Given the description of an element on the screen output the (x, y) to click on. 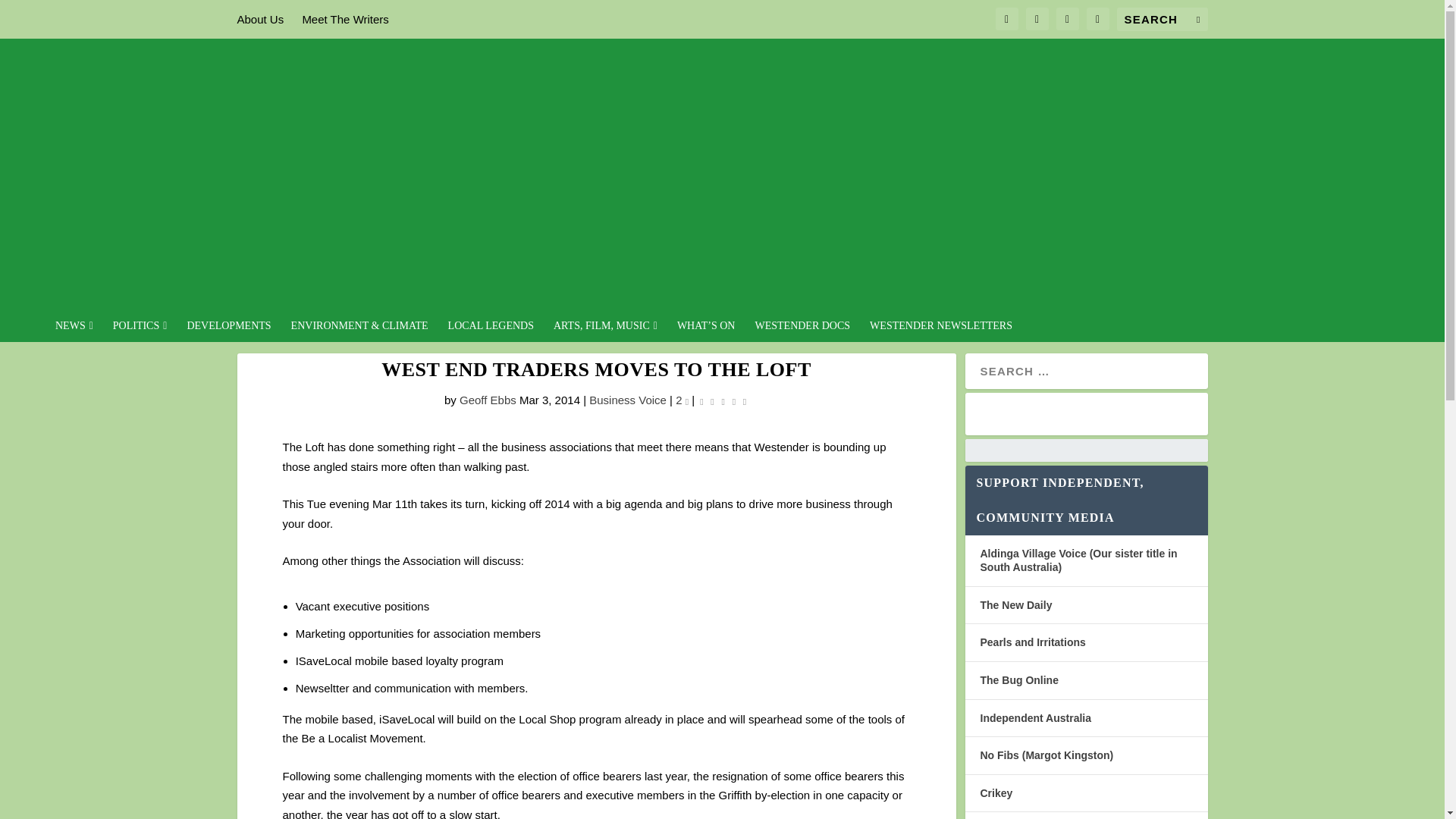
About Us (259, 19)
Posts by Geoff Ebbs (488, 399)
POLITICS (140, 331)
LOCAL LEGENDS (491, 331)
Search for: (1161, 19)
NEWS (74, 331)
Meet The Writers (344, 19)
ARTS, FILM, MUSIC (605, 331)
WESTENDER NEWSLETTERS (940, 331)
WESTENDER DOCS (802, 331)
